Given the description of an element on the screen output the (x, y) to click on. 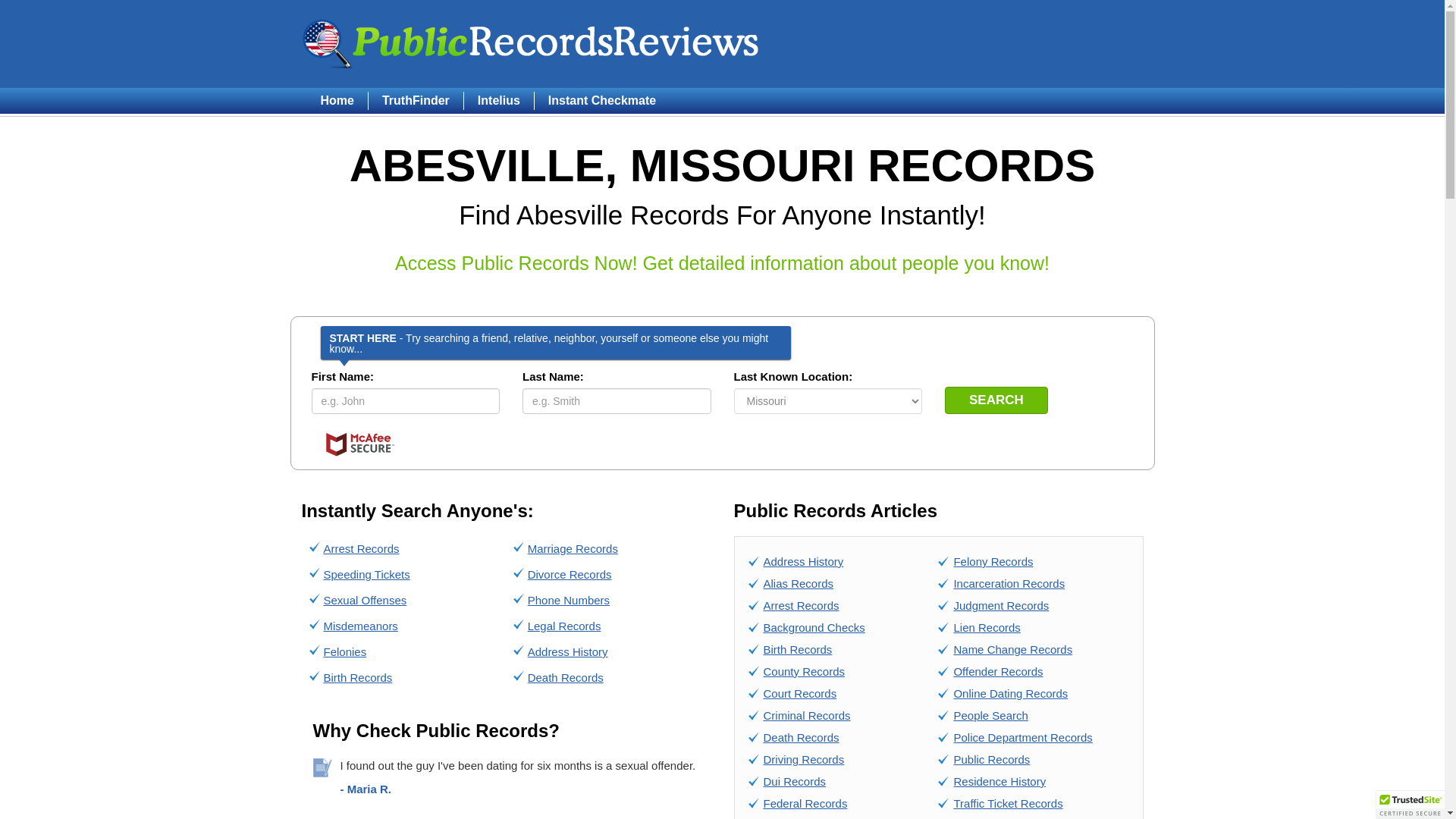
TruthFinder (415, 100)
SEARCH (996, 400)
Death Records (565, 676)
Arrest Records (360, 548)
Marriage Records (572, 548)
Public Record Reviews (530, 43)
Offender Records (997, 671)
Criminal Records (806, 715)
Online Dating Records (1010, 693)
Judgment Records (1000, 604)
